Given the description of an element on the screen output the (x, y) to click on. 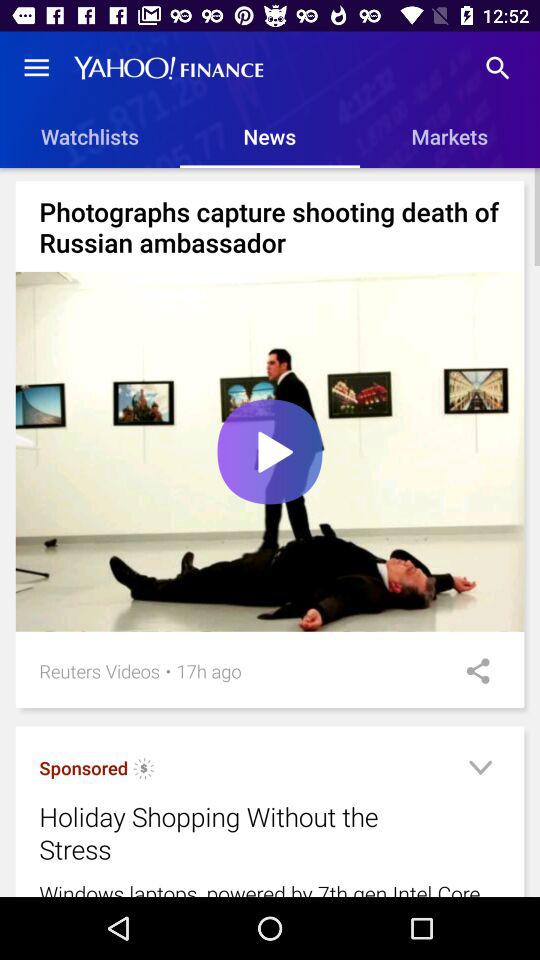
open the item below reuters videos icon (143, 771)
